Given the description of an element on the screen output the (x, y) to click on. 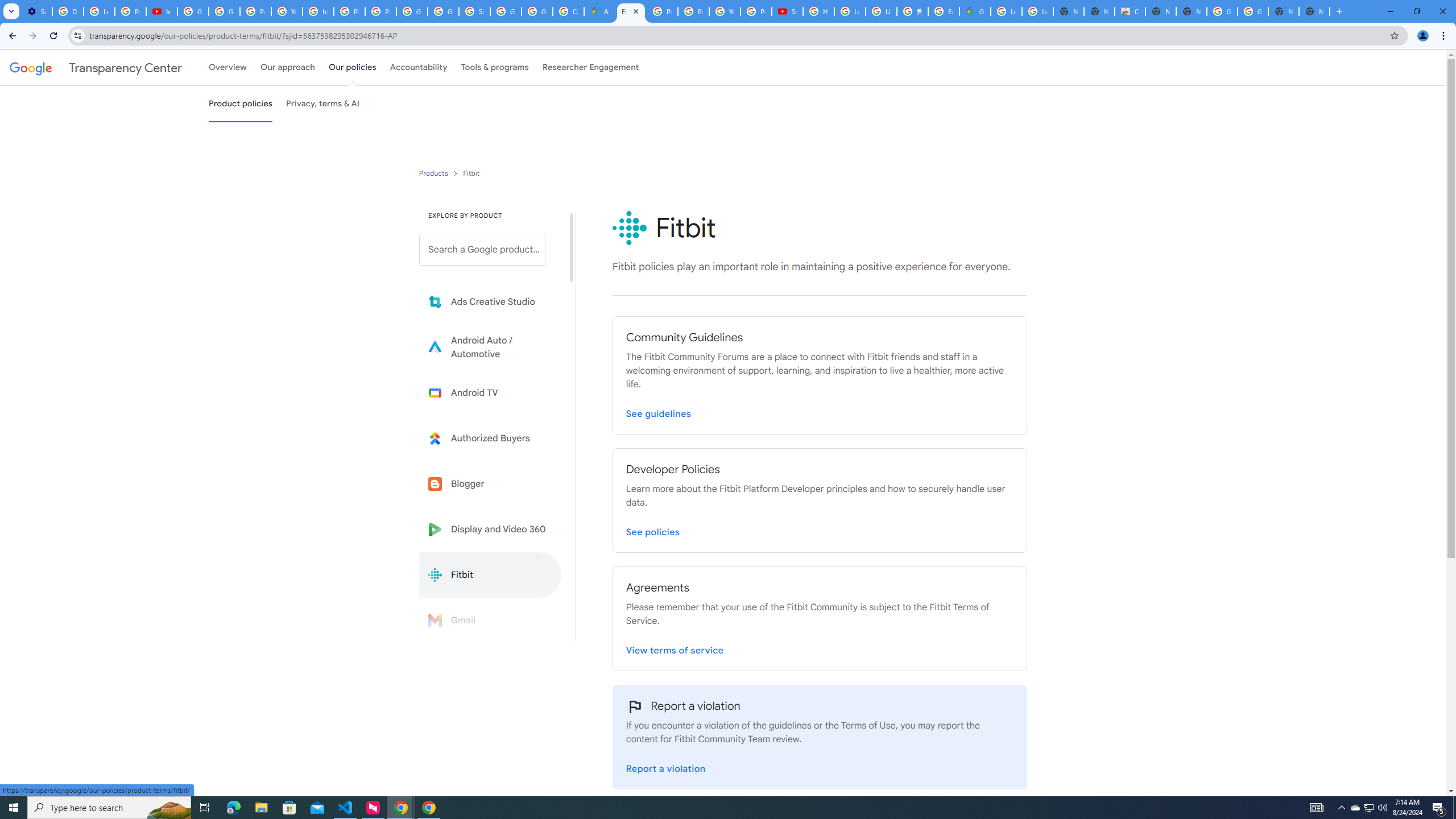
Privacy Help Center - Policies Help (662, 11)
Product policies (434, 173)
Display and Video 360 (490, 529)
Transparency Center (95, 67)
Subscriptions - YouTube (787, 11)
Learn more about Authorized Buyers (490, 438)
Gmail (490, 619)
